Given the description of an element on the screen output the (x, y) to click on. 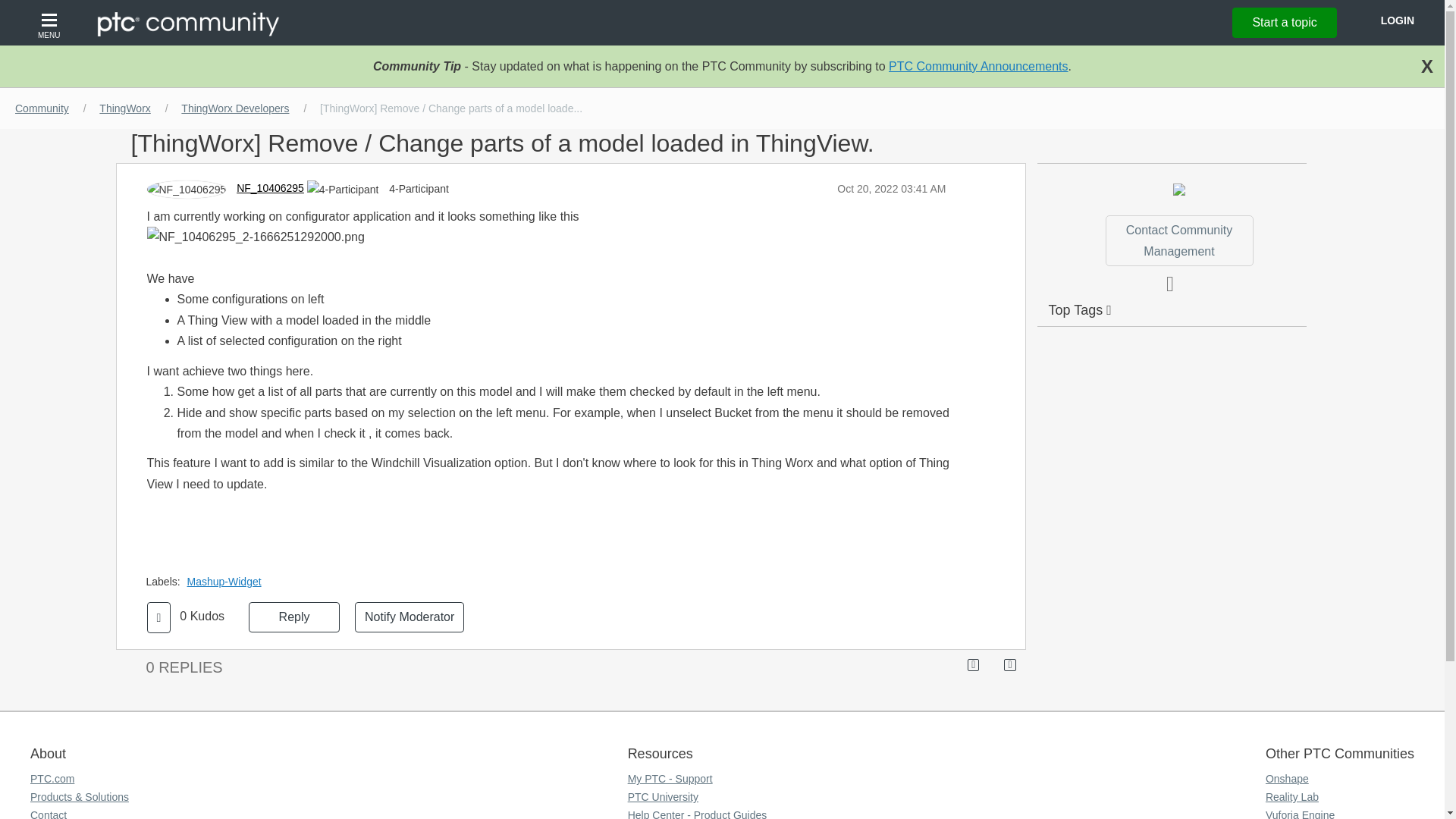
ThingWorx (124, 108)
Reply (293, 616)
LOGIN (1396, 20)
Start a topic (1283, 22)
ThingWorx Developers (235, 108)
MENU (50, 22)
PTC Community Announcements (978, 65)
Notify Moderator (409, 616)
Community (42, 108)
Contact Community Management (1178, 240)
